Given the description of an element on the screen output the (x, y) to click on. 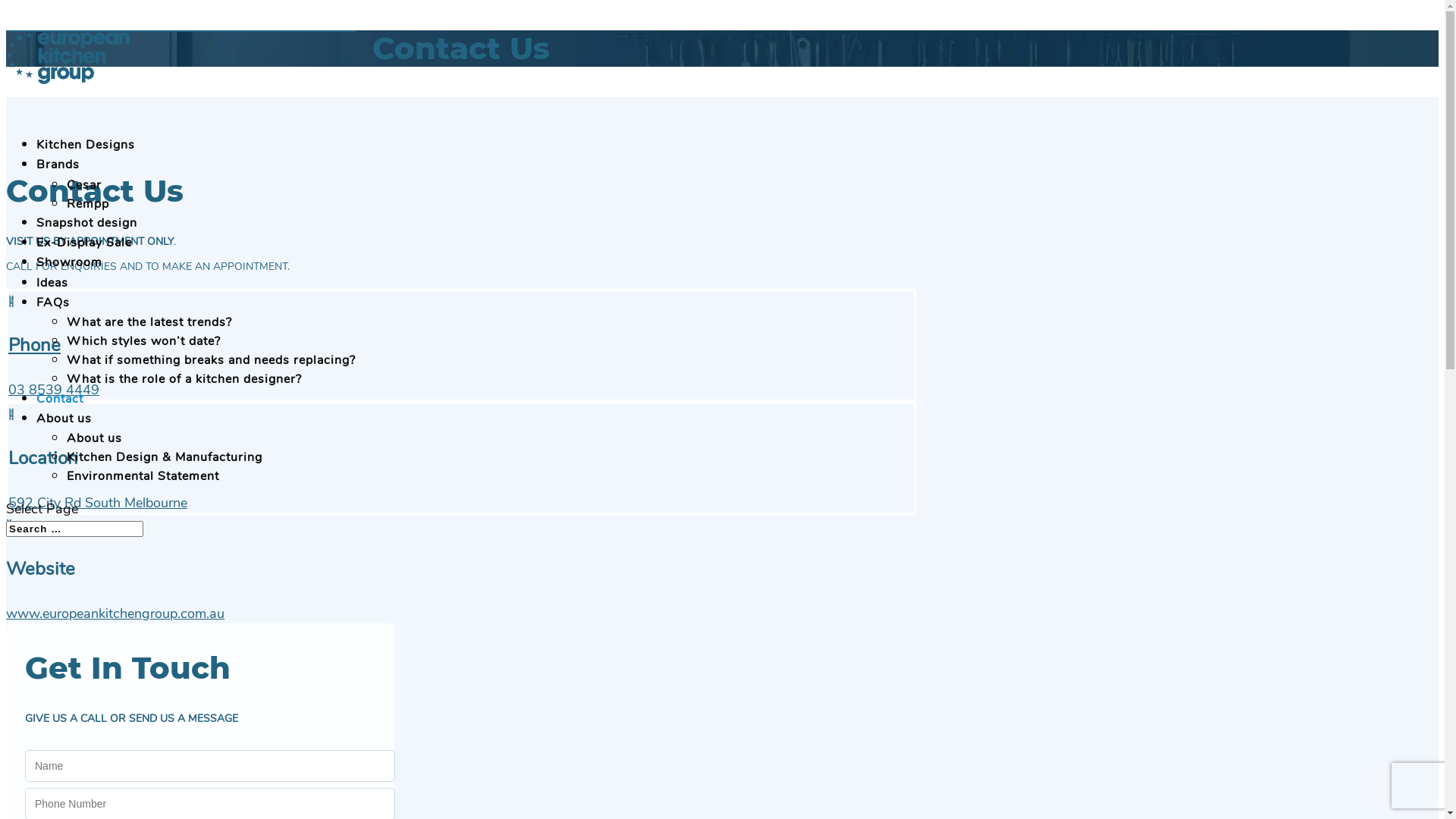
Cesar Element type: text (83, 184)
About us Element type: text (94, 437)
592 City Rd South Melbourne Element type: text (97, 502)
Environmental Statement Element type: text (142, 475)
Search for: Element type: hover (74, 528)
What is the role of a kitchen designer? Element type: text (183, 378)
What are the latest trends? Element type: text (149, 321)
FAQs Element type: text (52, 318)
Snapshot design Element type: text (86, 238)
Showroom Element type: text (69, 278)
Rempp Element type: text (87, 203)
Kitchen Designs Element type: text (85, 160)
What if something breaks and needs replacing? Element type: text (210, 359)
Brands Element type: text (57, 180)
Ideas Element type: text (52, 298)
Kitchen Design & Manufacturing Element type: text (164, 456)
Ex-Display Sale Element type: text (83, 258)
Contact Element type: text (59, 414)
www.europeankitchengroup.com.au Element type: text (115, 613)
Phone Element type: text (34, 344)
03 8539 4449 Element type: text (53, 389)
About us Element type: text (63, 434)
